Given the description of an element on the screen output the (x, y) to click on. 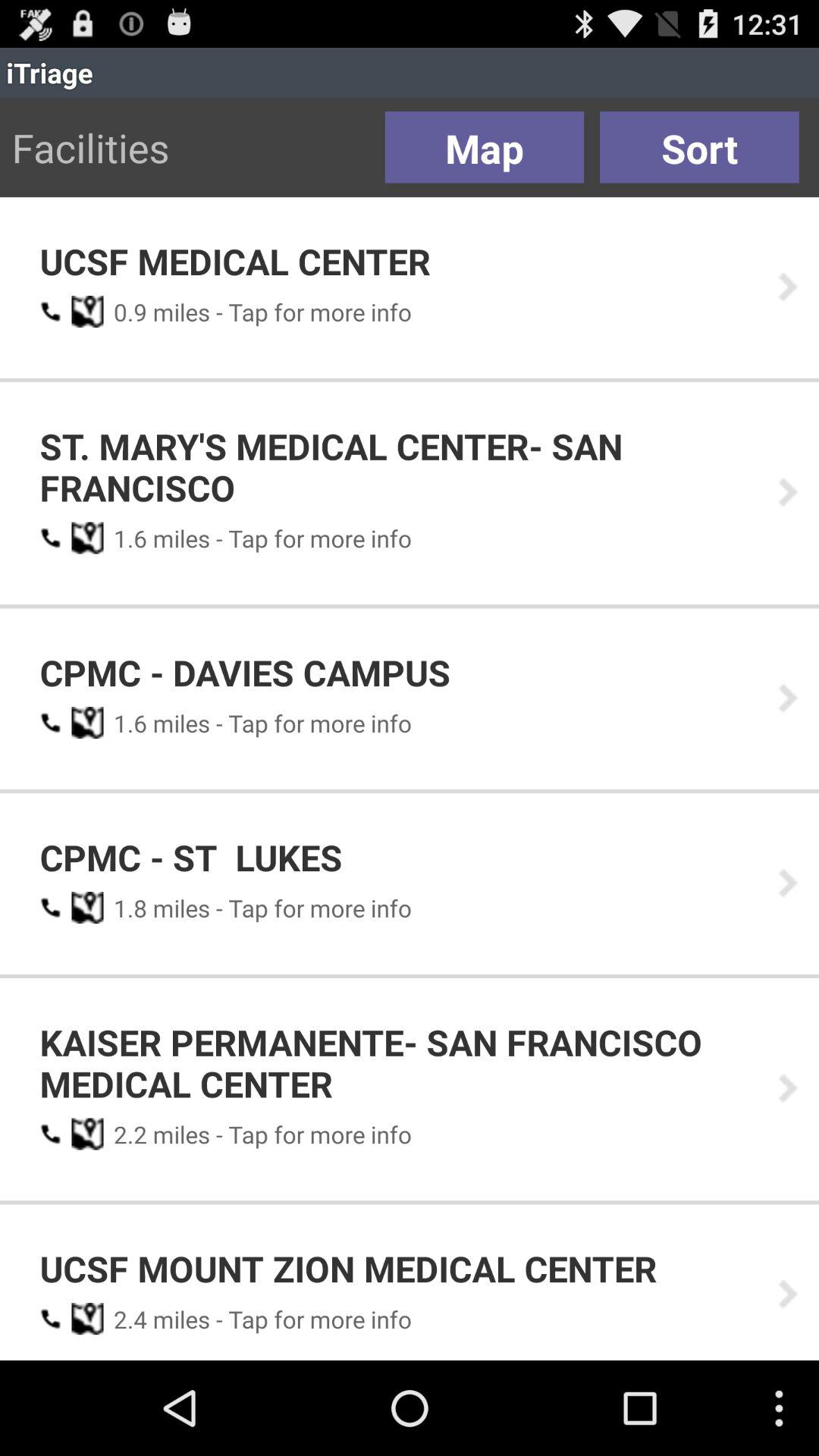
flip until st mary s (398, 466)
